Given the description of an element on the screen output the (x, y) to click on. 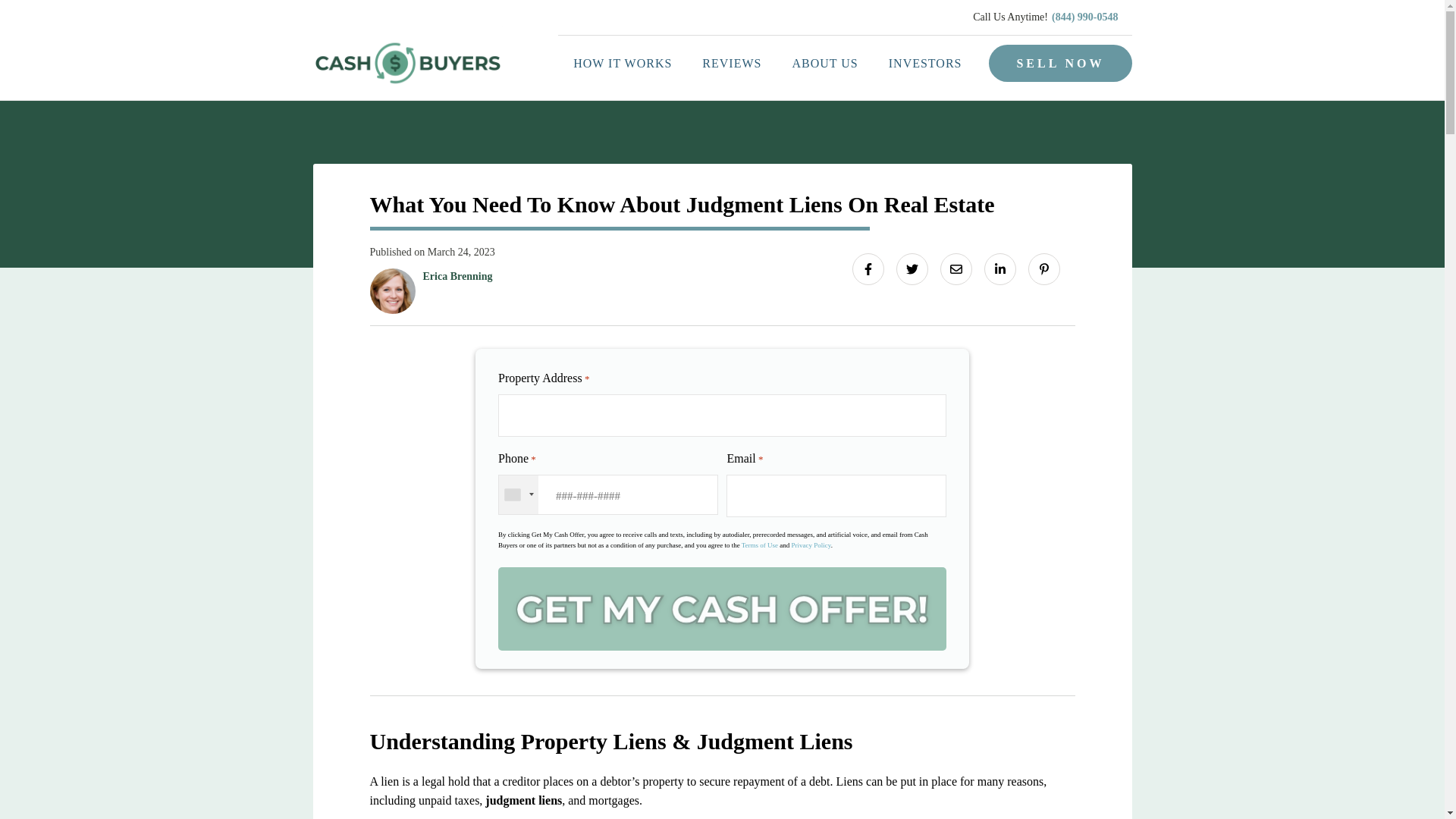
Share on Facebook (867, 269)
REVIEWS (731, 63)
Terms of Use (759, 544)
ABOUT US (824, 63)
HOW IT WORKS (622, 63)
INVESTORS (924, 63)
Erica Brenning (458, 276)
Share on LinkedIn (1000, 269)
Pin it (1043, 269)
Privacy Policy (811, 544)
SELL NOW (1059, 63)
Share on Twitter (912, 269)
Share via Email (956, 269)
